Given the description of an element on the screen output the (x, y) to click on. 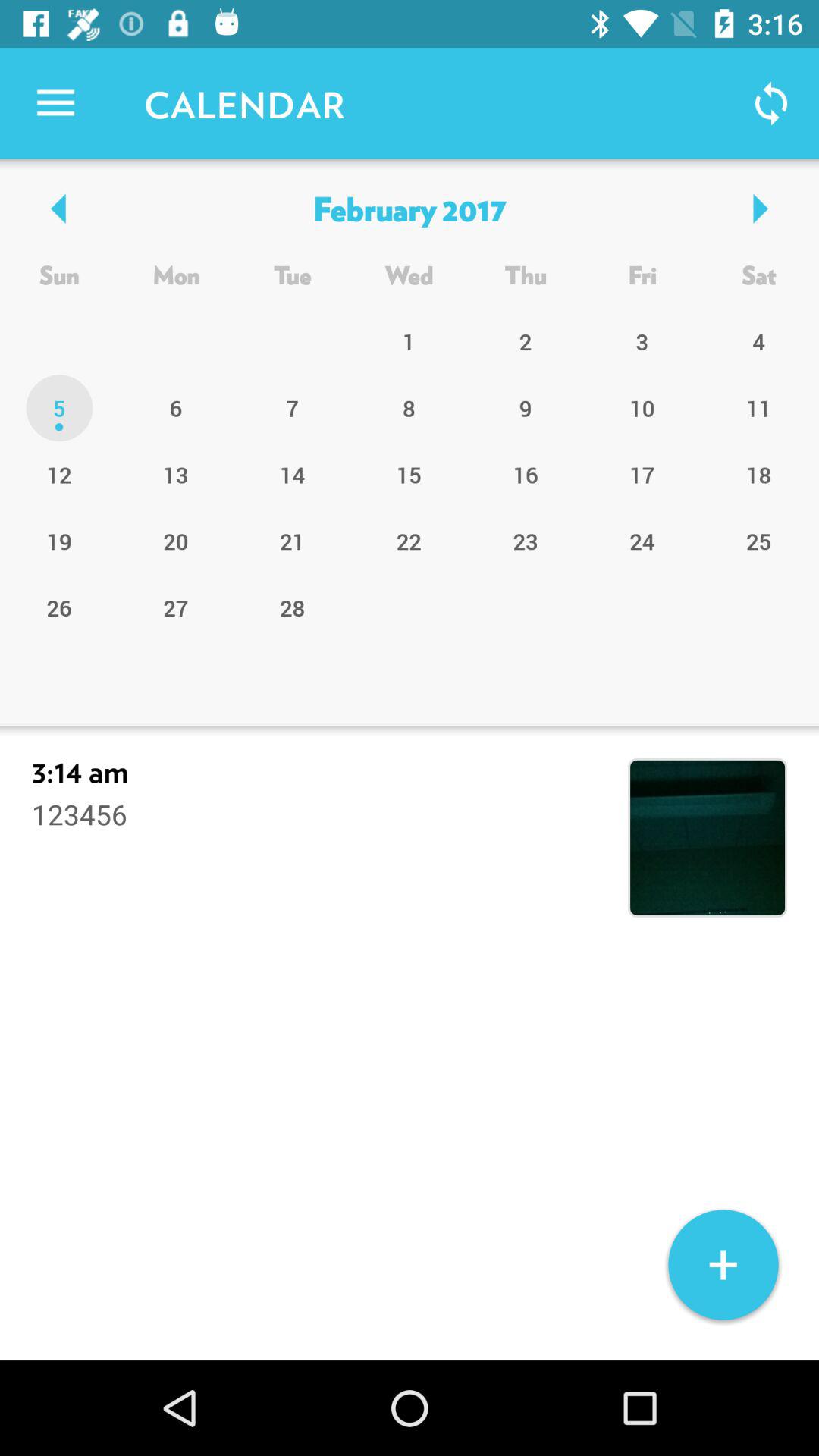
launch the item next to the 6 item (59, 474)
